Given the description of an element on the screen output the (x, y) to click on. 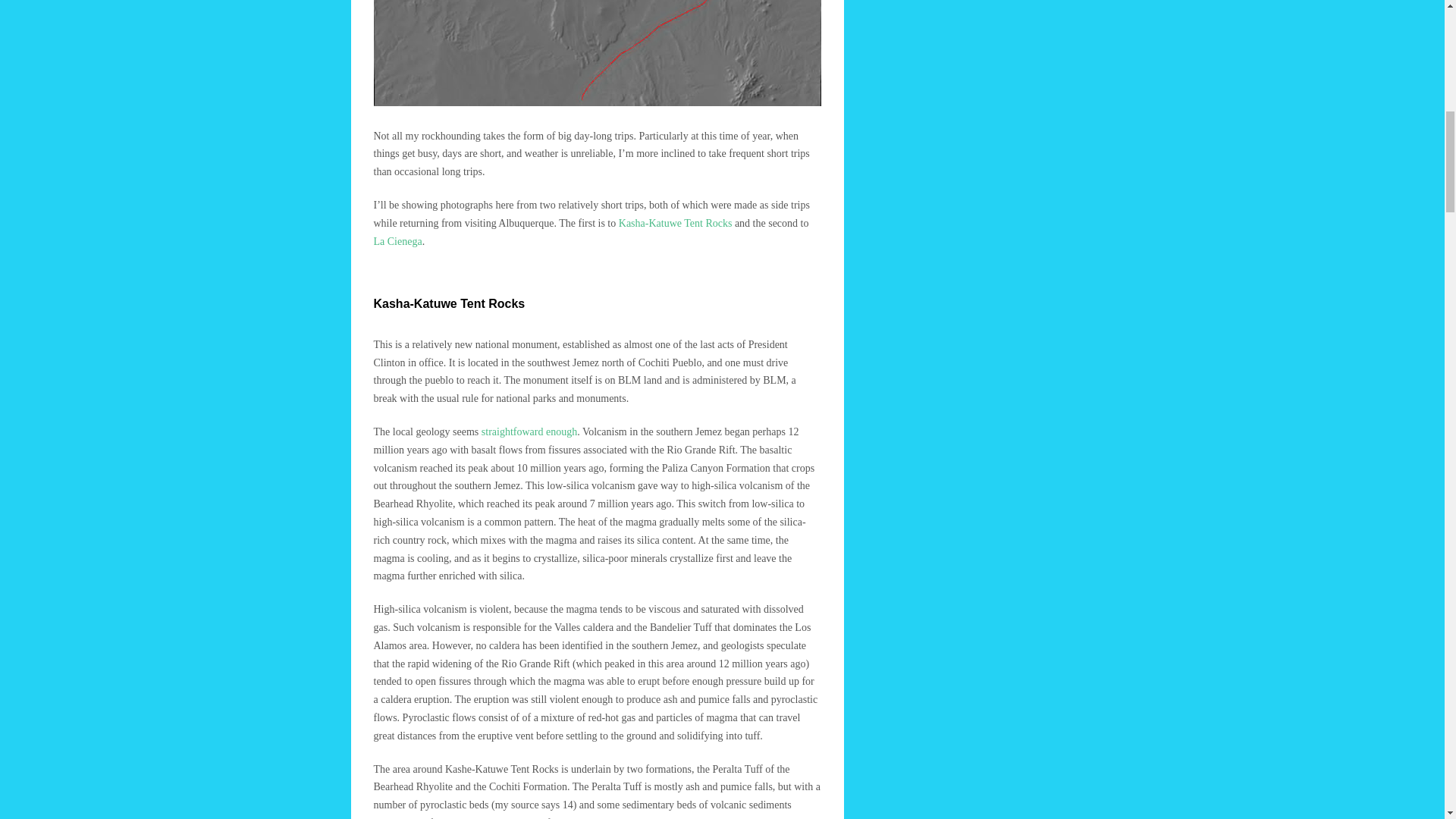
Bearhead Peak (754, 818)
straightfoward enough (528, 431)
La Cienega (397, 241)
Kasha-Katuwe Tent Rocks (675, 223)
